Given the description of an element on the screen output the (x, y) to click on. 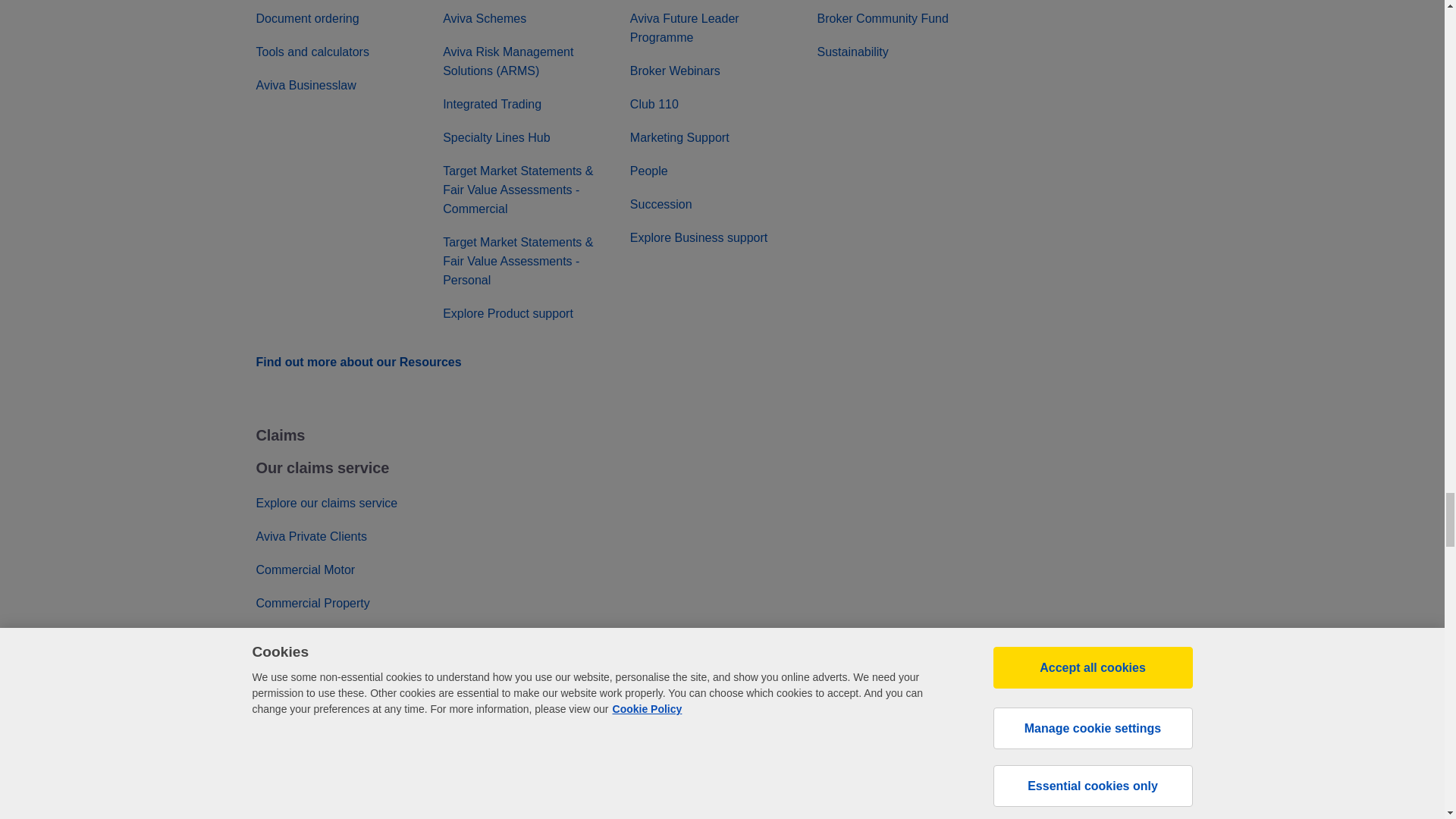
Twitter (1055, 818)
Fast Trade will open in a new tab (488, 0)
LinkedIn (1010, 818)
